Given the description of an element on the screen output the (x, y) to click on. 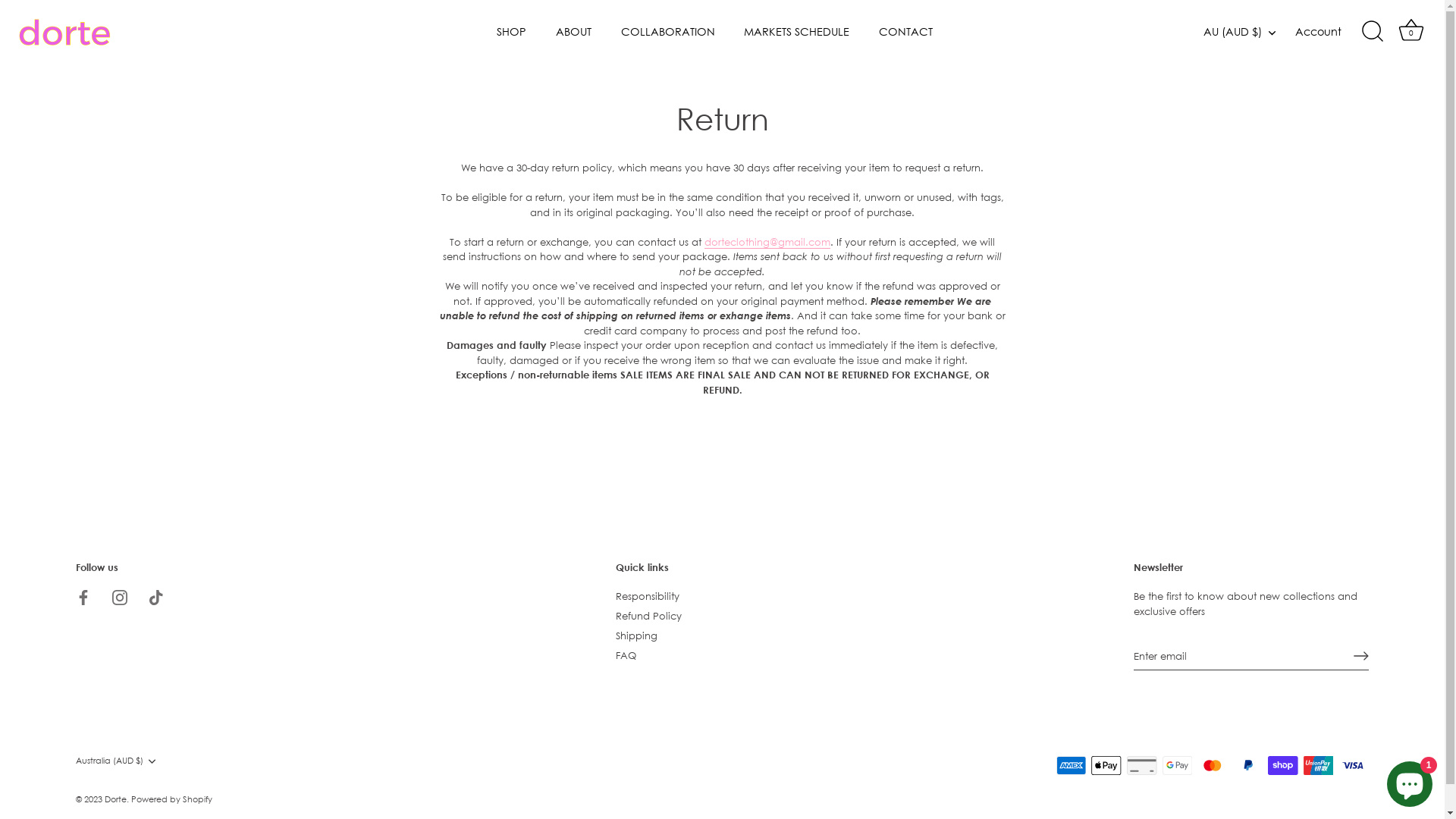
Shopify online store chat Element type: hover (1409, 780)
ABOUT Element type: text (573, 31)
Instagram Element type: text (119, 595)
Right arrow long Element type: text (1360, 655)
Dorte Element type: text (115, 798)
FAQ Element type: text (625, 655)
MARKETS SCHEDULE Element type: text (796, 31)
Responsibility Element type: text (647, 595)
SHOP Element type: text (511, 31)
Australia (AUD $) Element type: text (126, 761)
CONTACT Element type: text (905, 31)
Powered by Shopify Element type: text (171, 798)
dorteclothing@gmail.com Element type: text (767, 241)
Shipping Element type: text (636, 635)
Account Element type: text (1331, 31)
AU (AUD $) Element type: text (1247, 31)
Refund Policy Element type: text (648, 615)
COLLABORATION Element type: text (667, 31)
Basket
0 Element type: text (1410, 31)
